Given the description of an element on the screen output the (x, y) to click on. 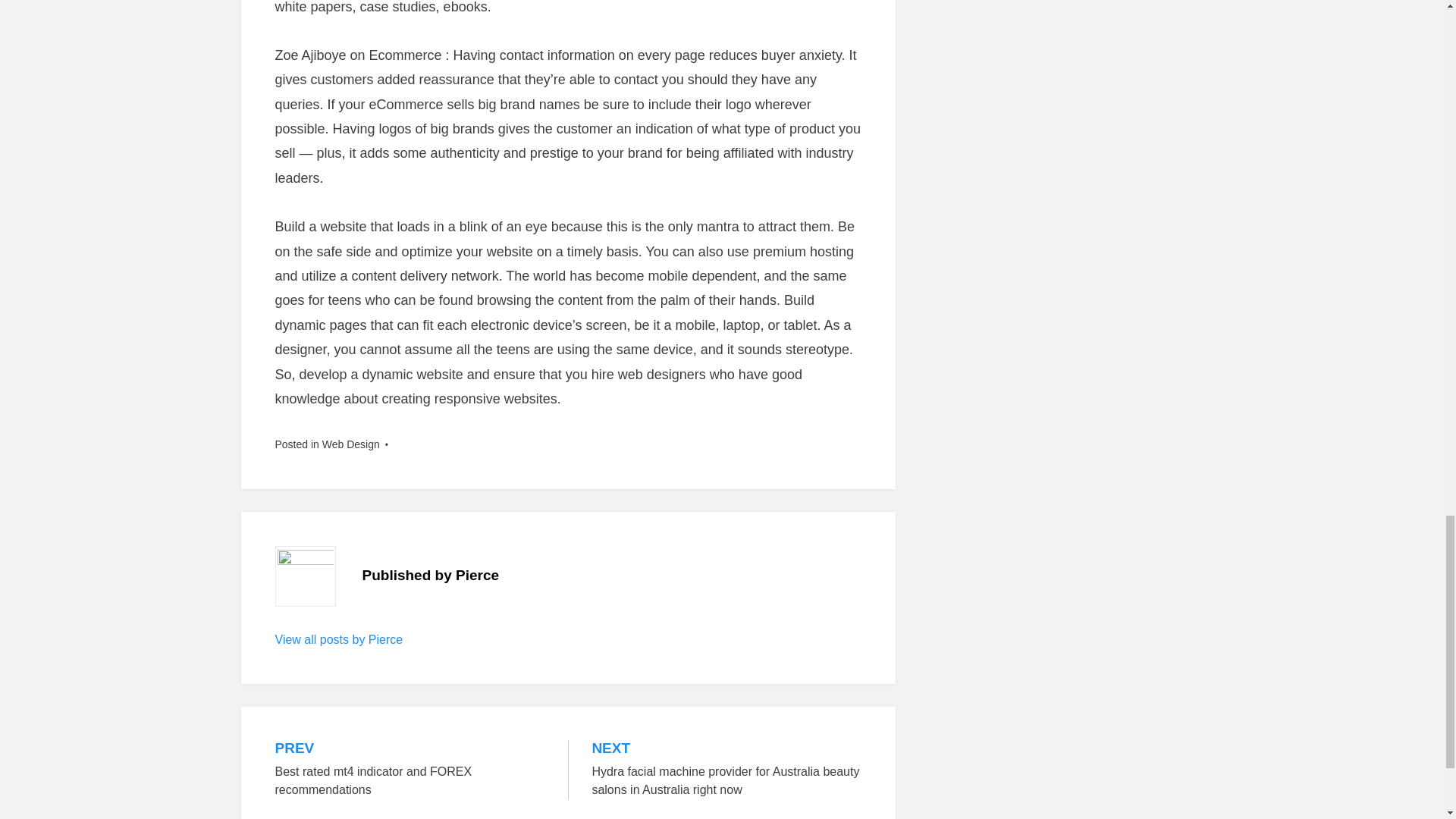
View all posts by Pierce (339, 639)
Web Design (409, 770)
